Given the description of an element on the screen output the (x, y) to click on. 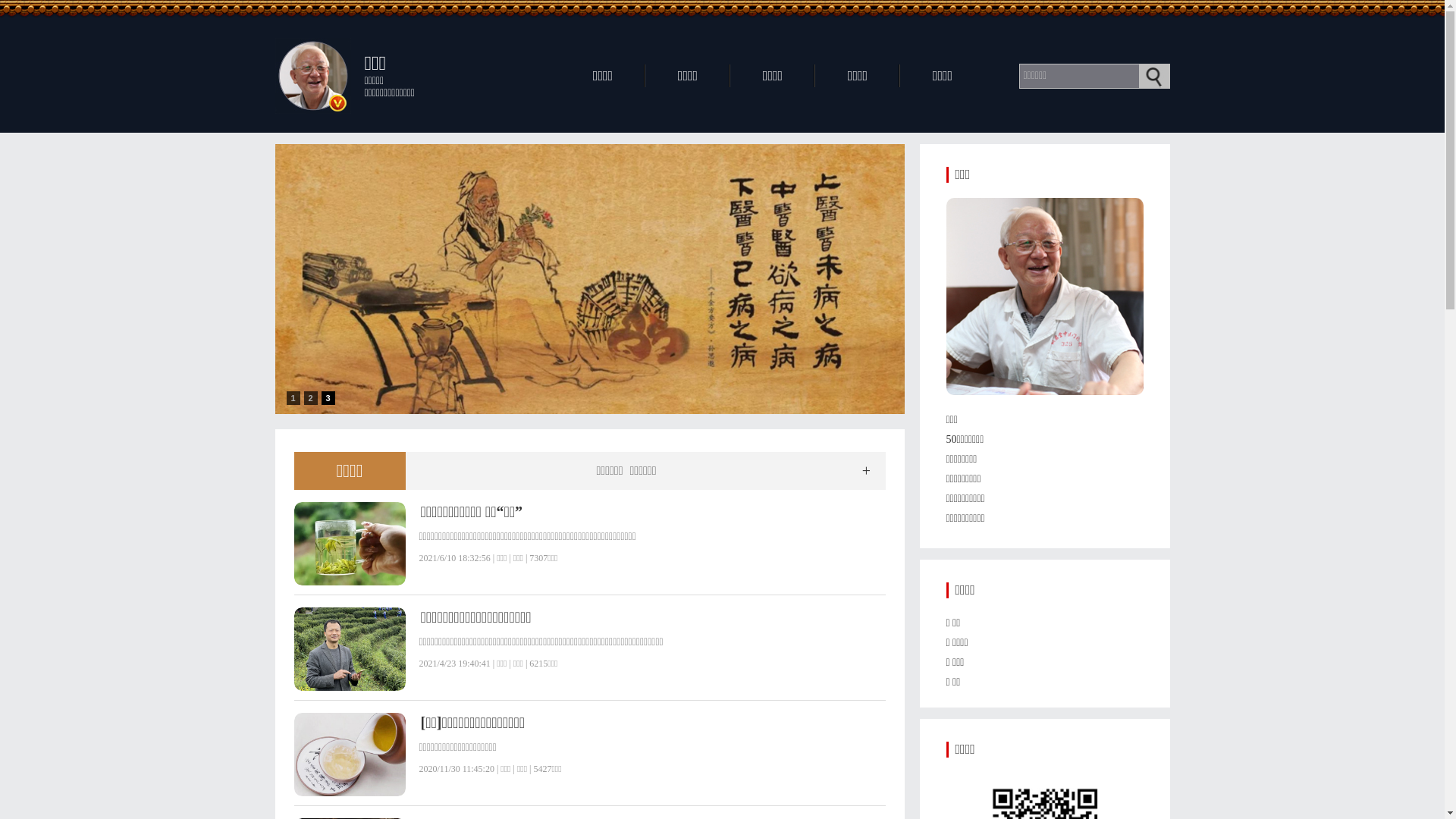
3 Element type: text (328, 397)
+ Element type: text (866, 470)
2 Element type: text (309, 397)
1 Element type: text (293, 397)
